Given the description of an element on the screen output the (x, y) to click on. 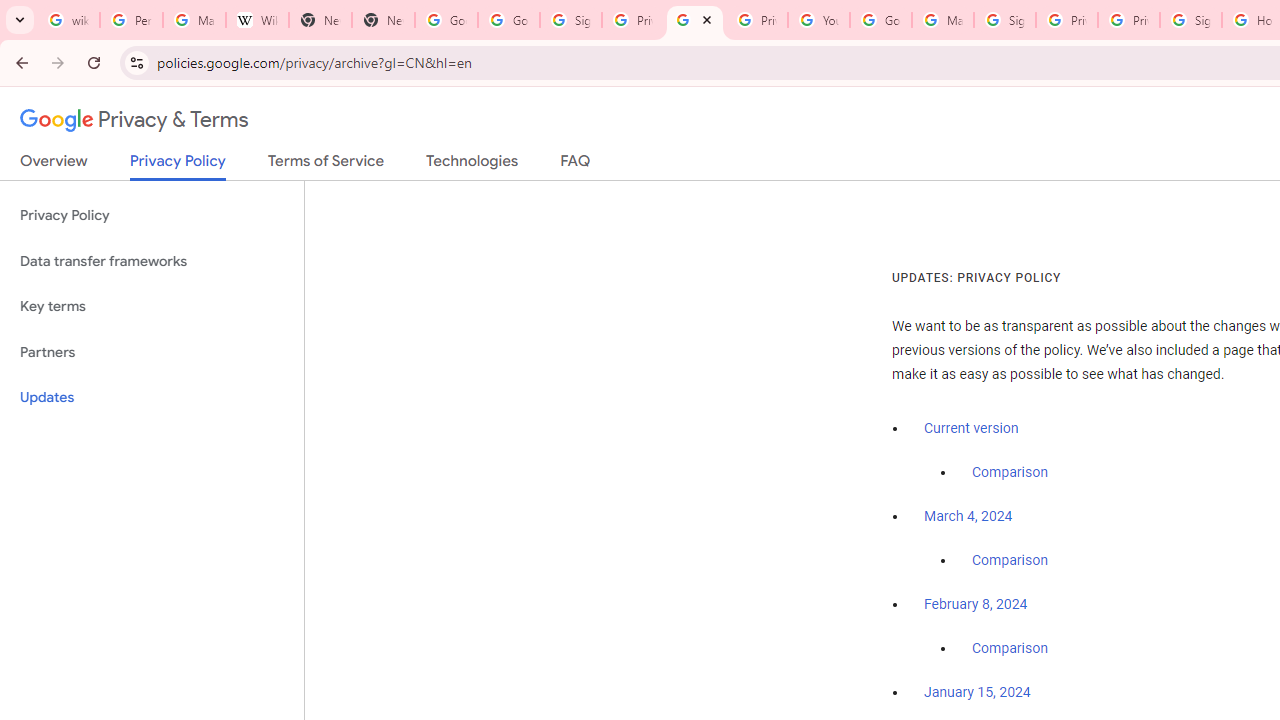
Privacy Policy (152, 215)
Manage your Location History - Google Search Help (194, 20)
Terms of Service (326, 165)
Technologies (472, 165)
January 15, 2024 (977, 693)
FAQ (575, 165)
Sign in - Google Accounts (570, 20)
New Tab (383, 20)
